Given the description of an element on the screen output the (x, y) to click on. 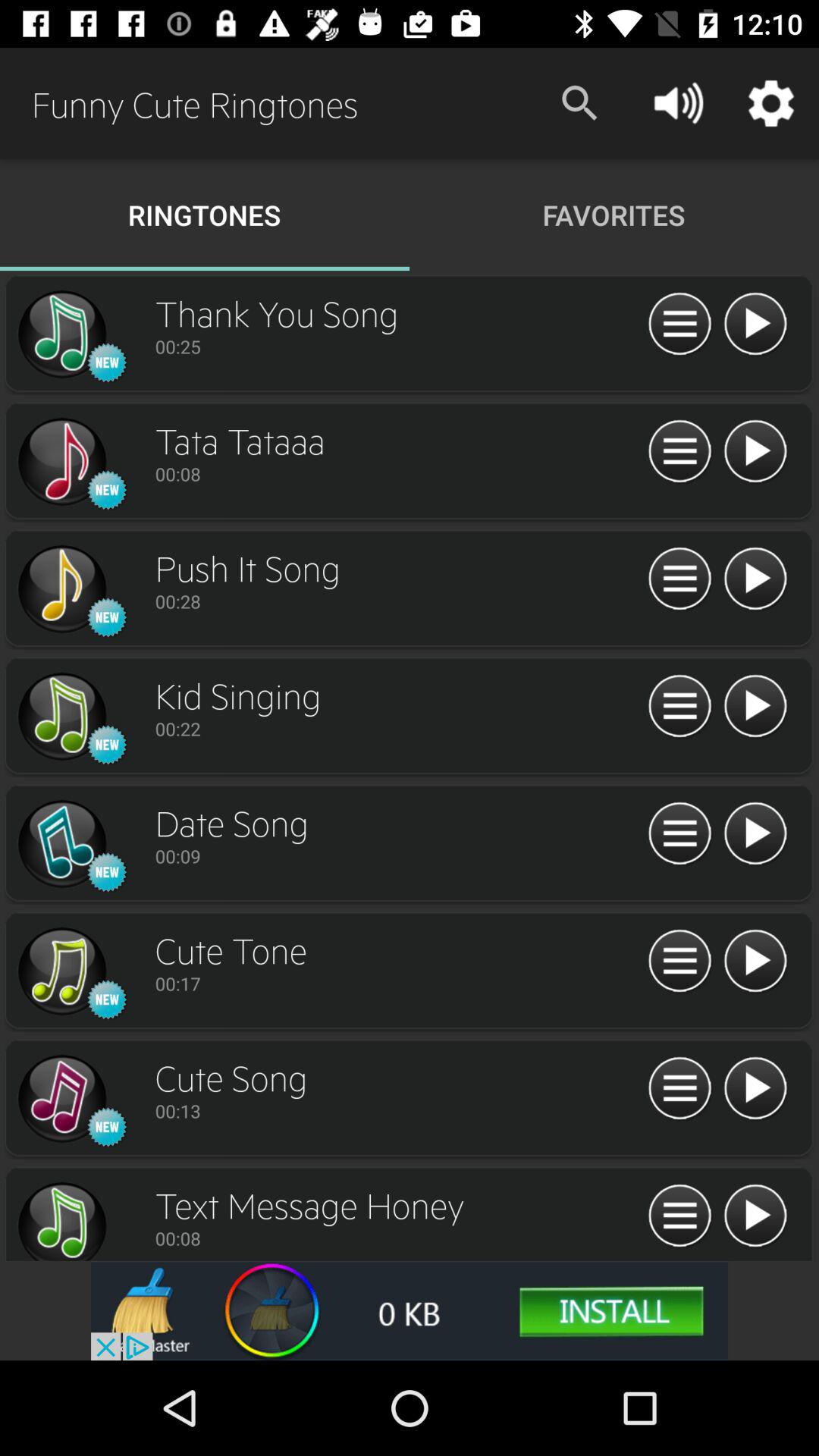
select ringtone (61, 716)
